Given the description of an element on the screen output the (x, y) to click on. 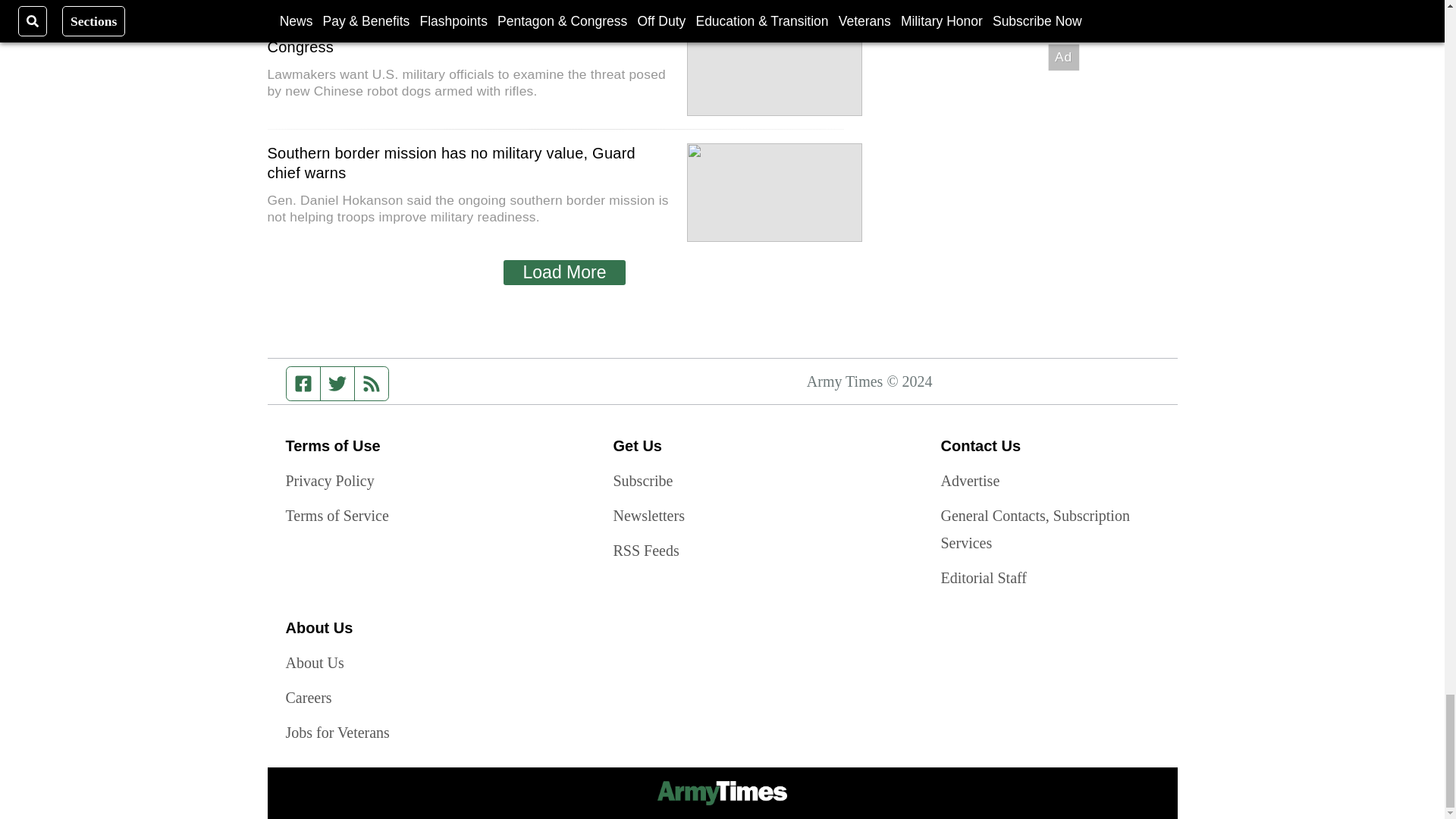
Twitter feed (336, 383)
RSS feed (371, 383)
Facebook page (303, 383)
